Given the description of an element on the screen output the (x, y) to click on. 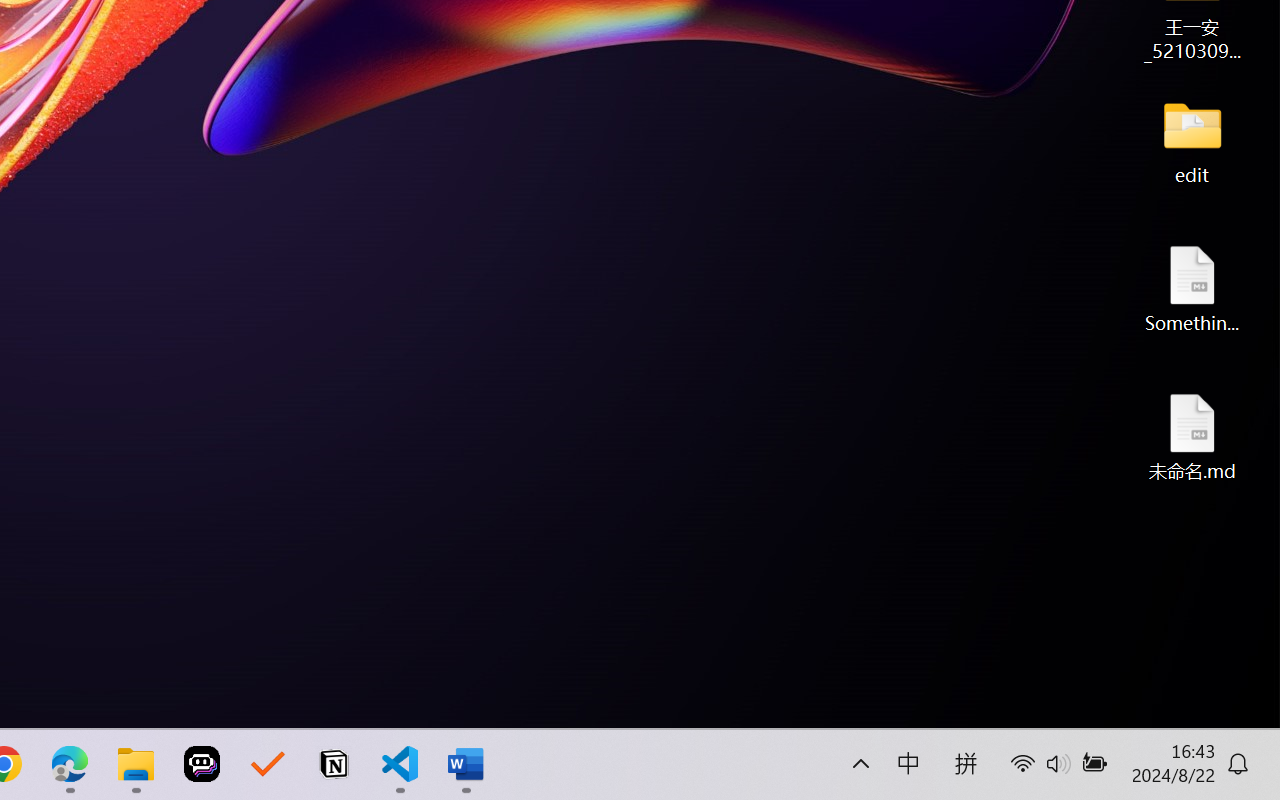
Something.md (1192, 288)
edit (1192, 140)
